Given the description of an element on the screen output the (x, y) to click on. 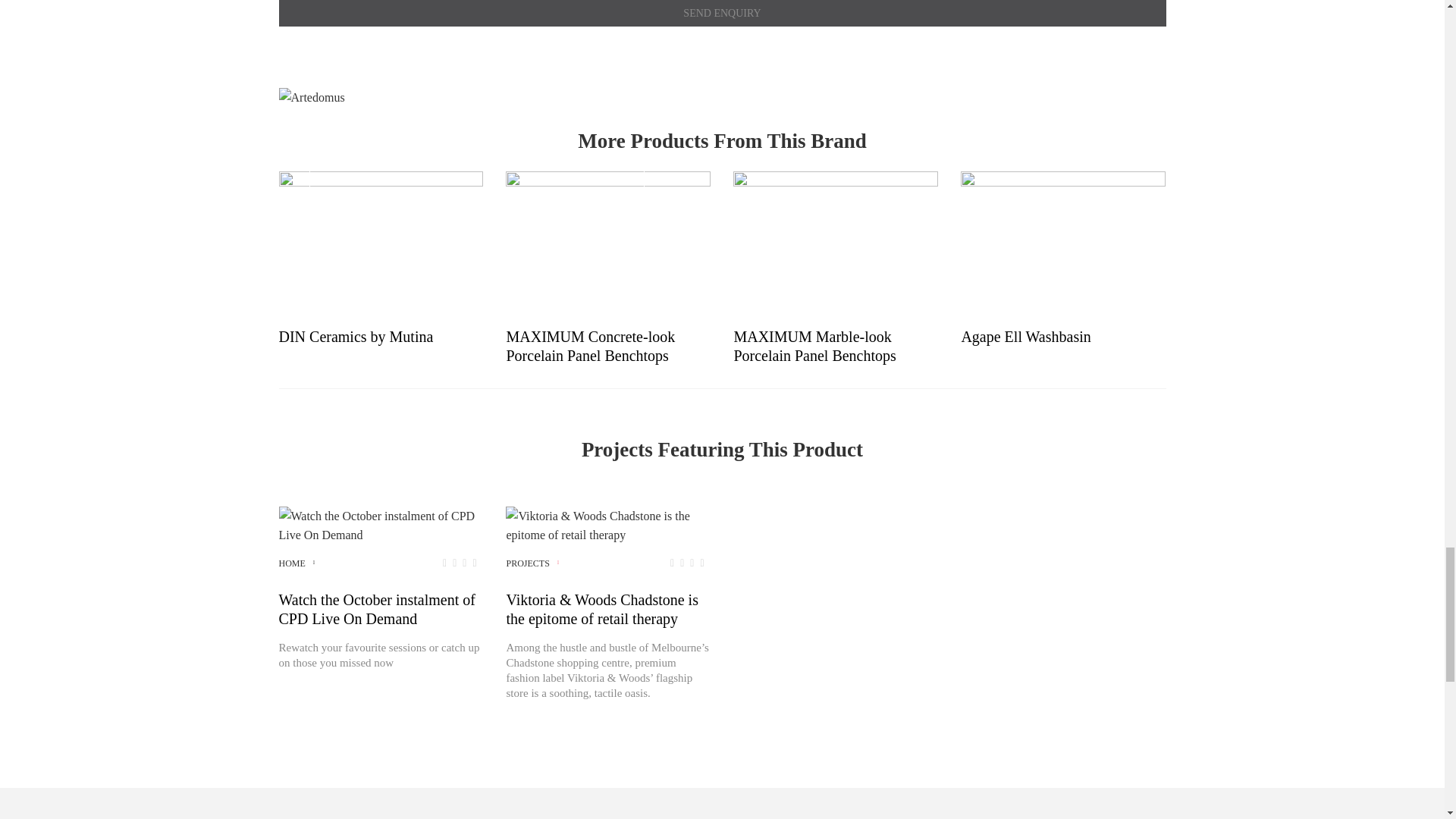
Send Enquiry (722, 13)
Watch the October instalment of CPD Live On Demand (381, 525)
Send Enquiry (722, 13)
